Given the description of an element on the screen output the (x, y) to click on. 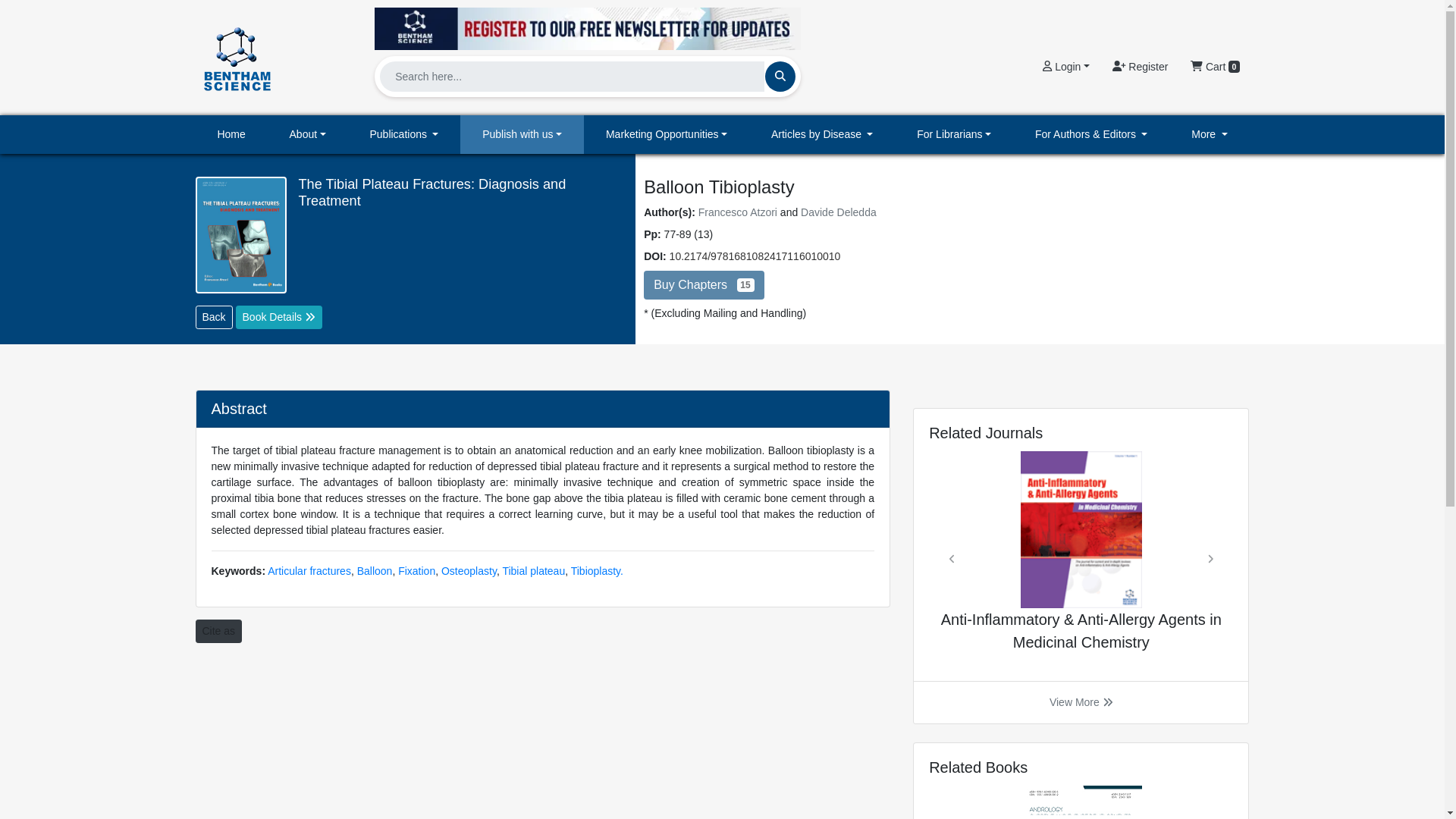
About (307, 134)
Search Button (779, 76)
Publications (404, 134)
Register (1139, 67)
newsletter banner (587, 24)
Login (1065, 67)
newsletter banner (587, 28)
Cart 0 (1214, 67)
Home (231, 134)
